Given the description of an element on the screen output the (x, y) to click on. 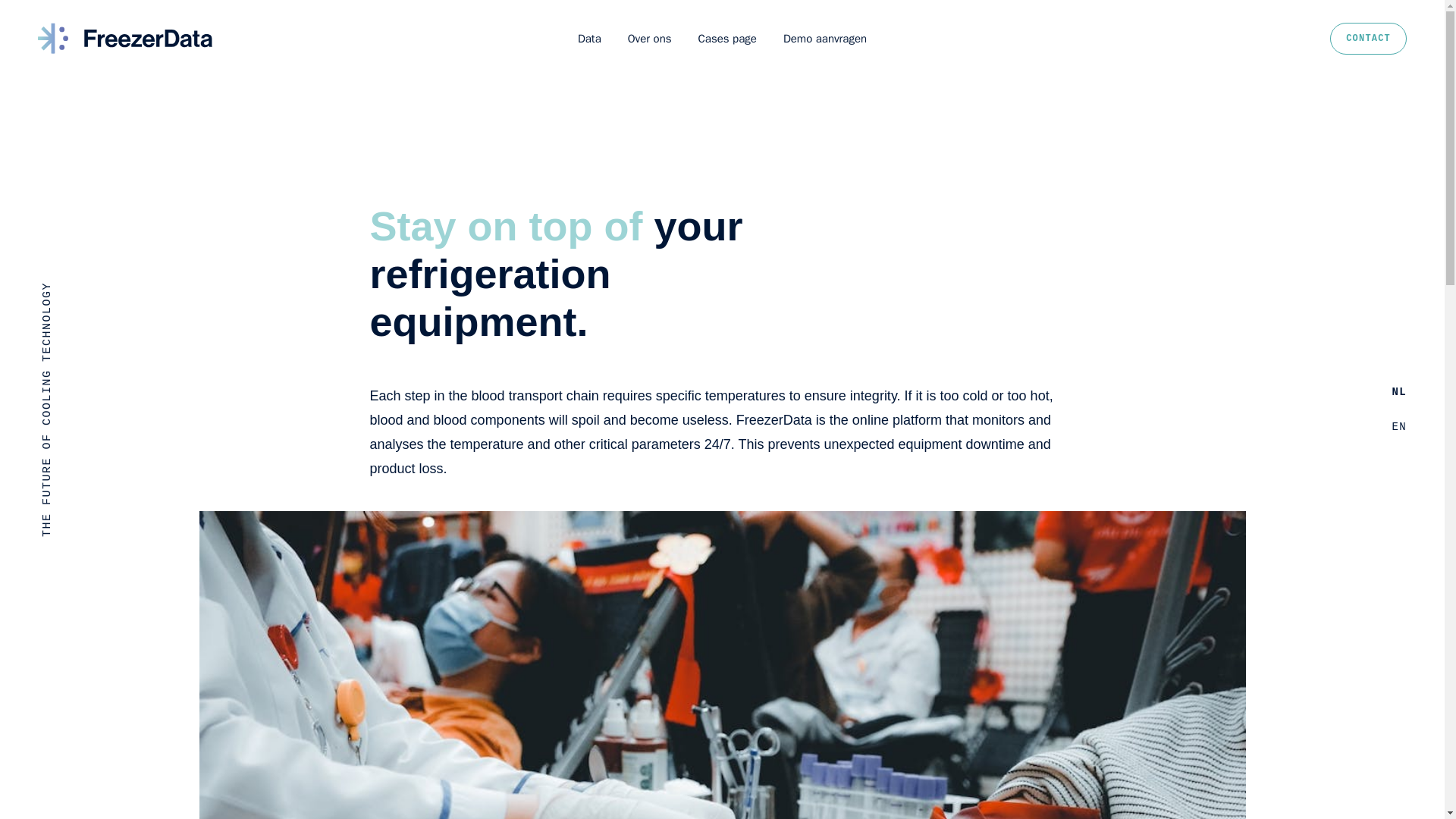
Data (589, 38)
CONTACT (1368, 38)
Cases page (727, 38)
Demo aanvragen (824, 38)
Over ons (649, 38)
